Given the description of an element on the screen output the (x, y) to click on. 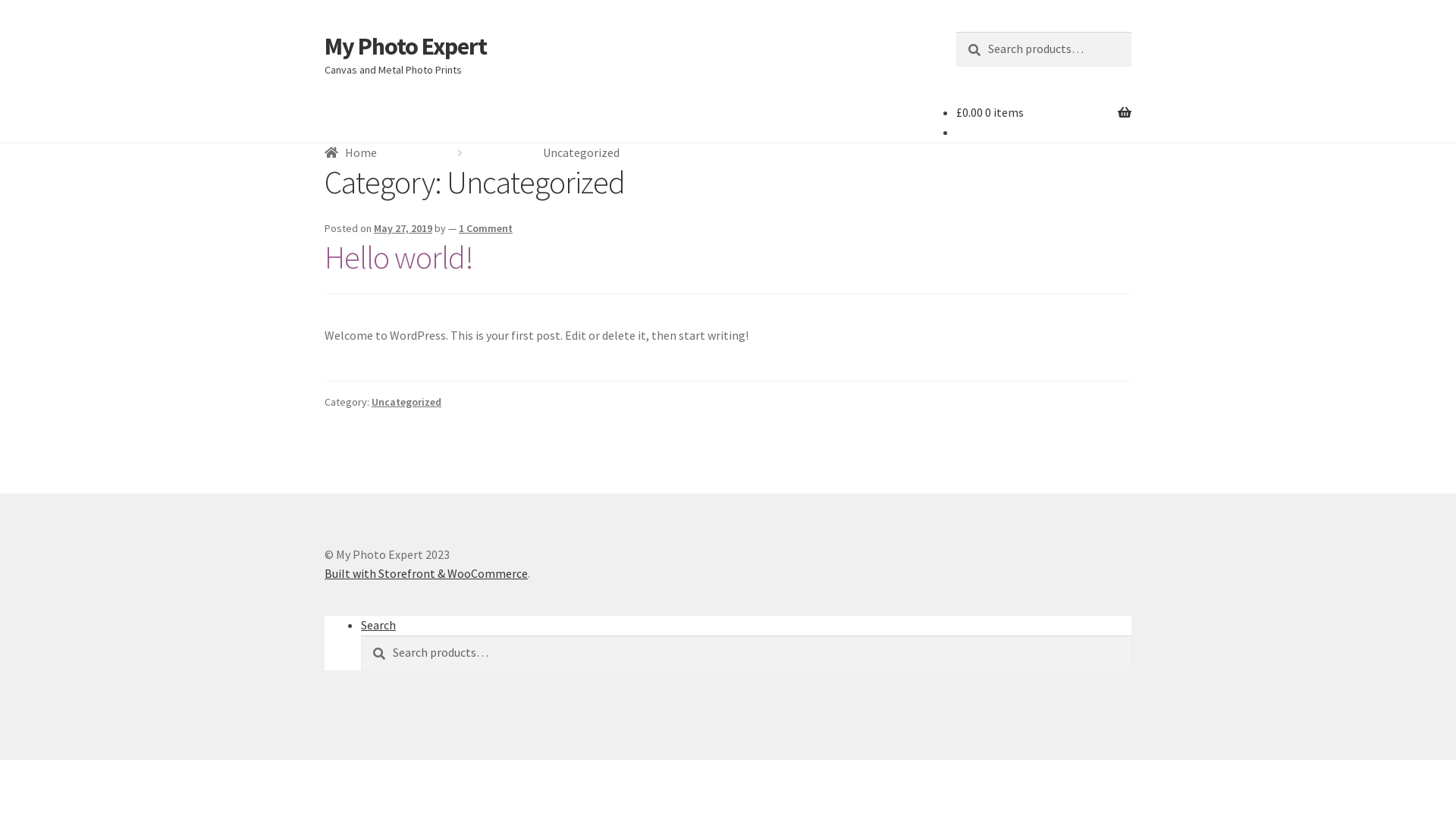
Skip to navigation Element type: text (323, 31)
Home Element type: text (350, 152)
Search Element type: text (955, 31)
May 27, 2019 Element type: text (402, 228)
Search Element type: text (377, 624)
1 Comment Element type: text (485, 228)
Hello world! Element type: text (398, 256)
Uncategorized Element type: text (406, 401)
My Photo Expert Element type: text (405, 46)
Built with Storefront & WooCommerce Element type: text (425, 572)
Search Element type: text (360, 634)
